Given the description of an element on the screen output the (x, y) to click on. 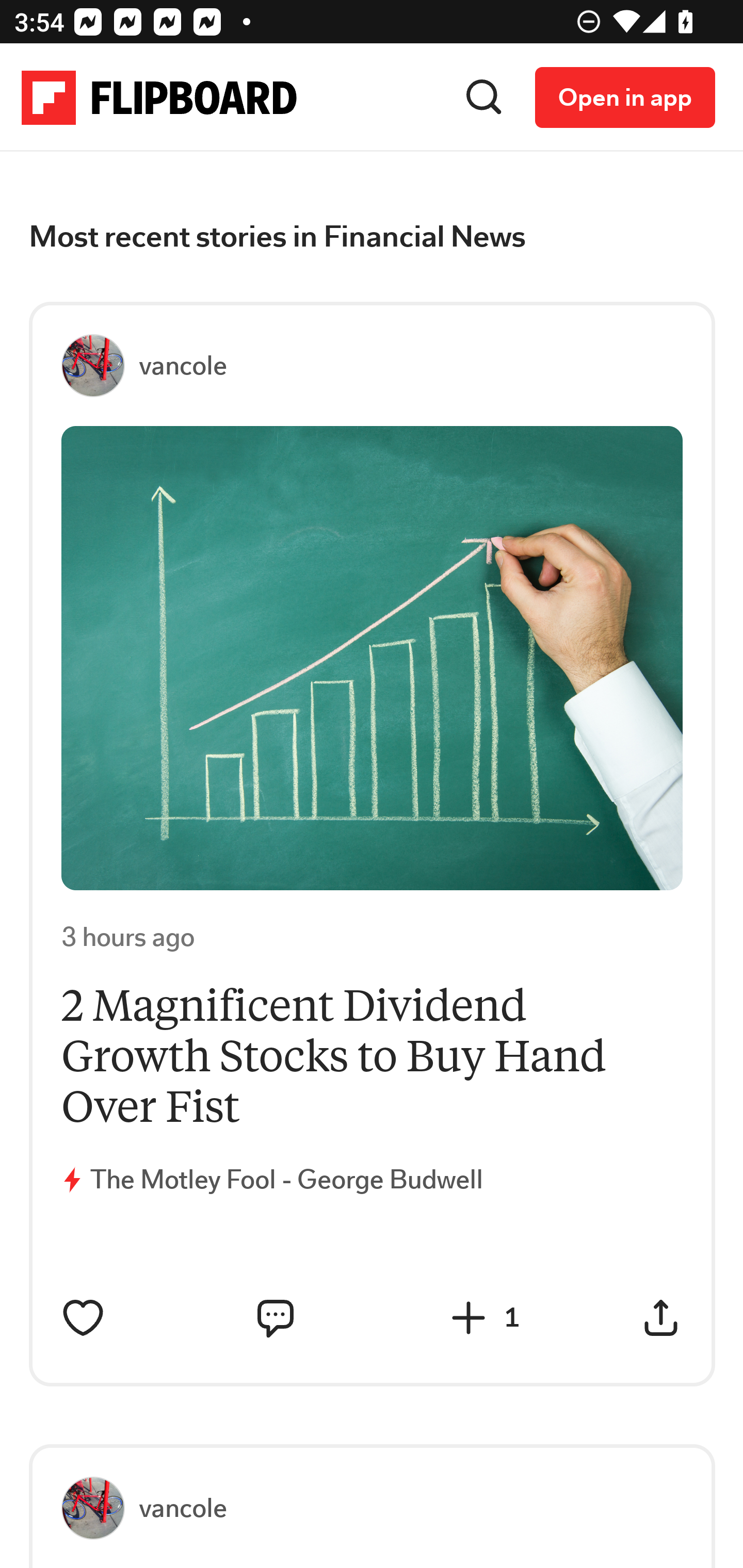
Open in app (625, 97)
Search (484, 97)
Avatar - vancole (101, 365)
vancole (182, 366)
The Motley Fool - George Budwell (286, 1179)
Like (83, 1318)
comment (274, 1318)
Flip (468, 1318)
Share (661, 1318)
Avatar - vancole (101, 1509)
vancole (182, 1508)
